Given the description of an element on the screen output the (x, y) to click on. 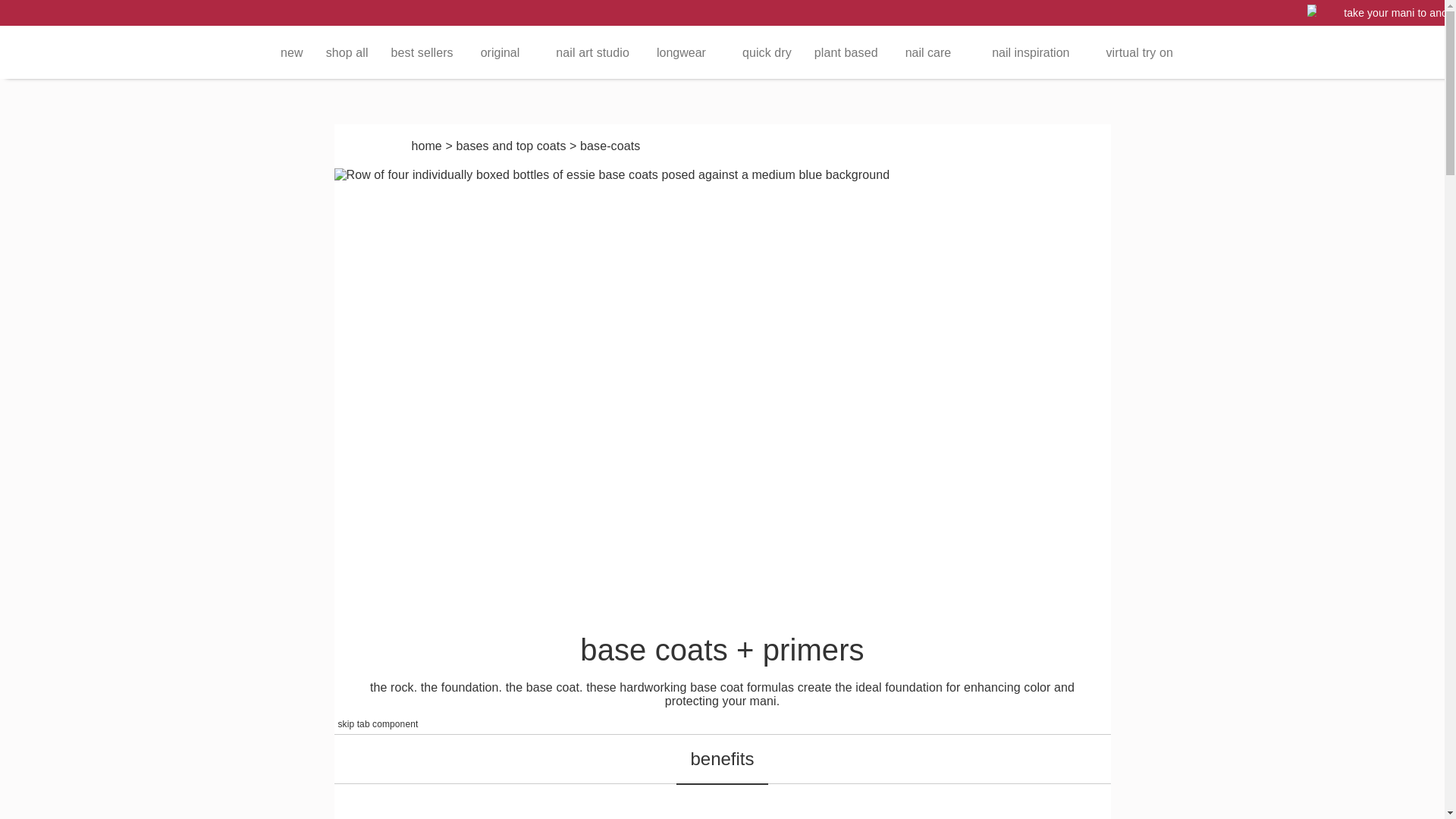
quick dry (767, 52)
new (291, 52)
shop all (347, 52)
original (505, 52)
skip tab component (377, 723)
longwear (685, 52)
plant based (845, 52)
best sellers (421, 52)
Home (425, 145)
base and top coats (510, 145)
